Given the description of an element on the screen output the (x, y) to click on. 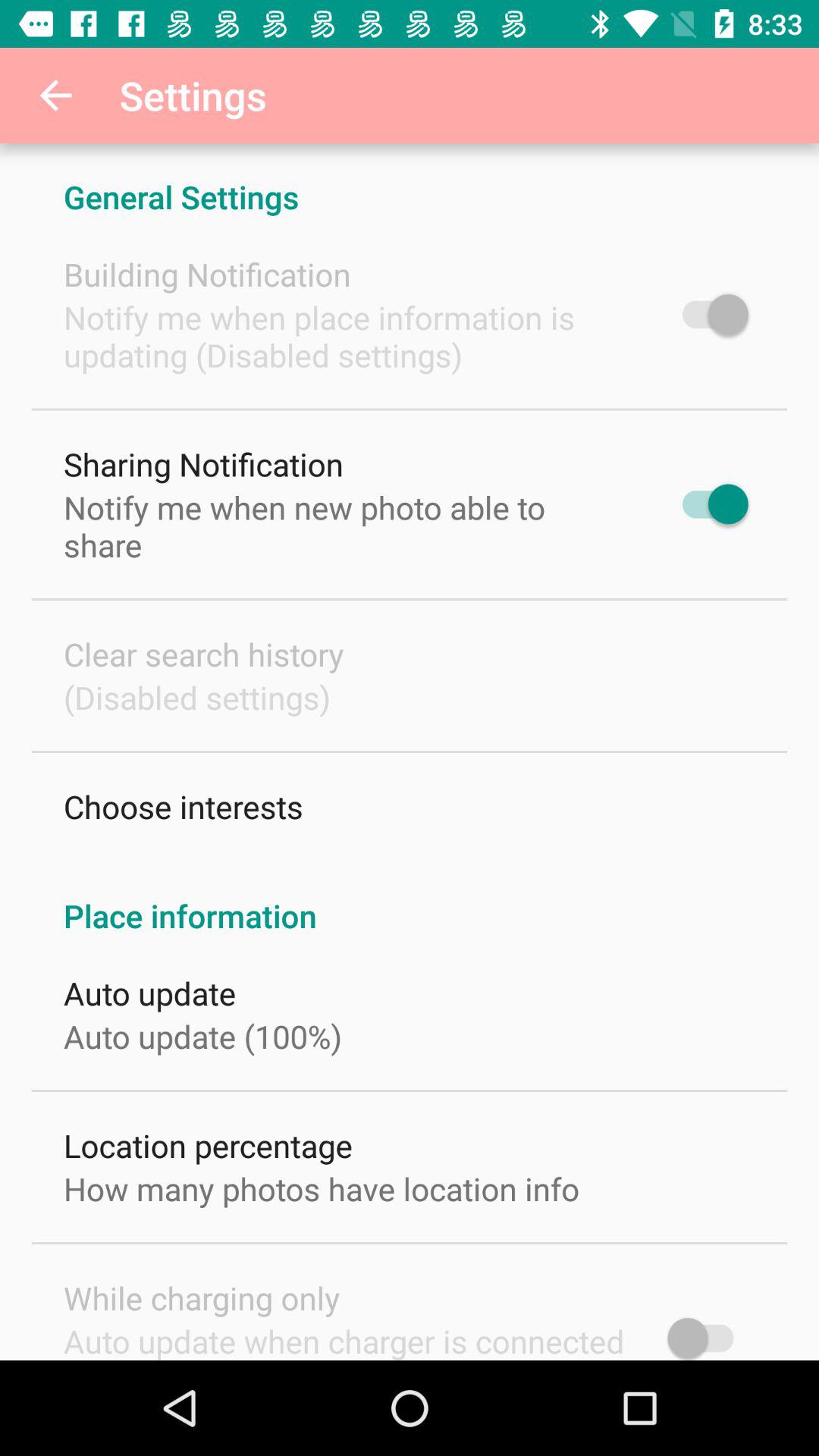
scroll until the building notification item (206, 273)
